Given the description of an element on the screen output the (x, y) to click on. 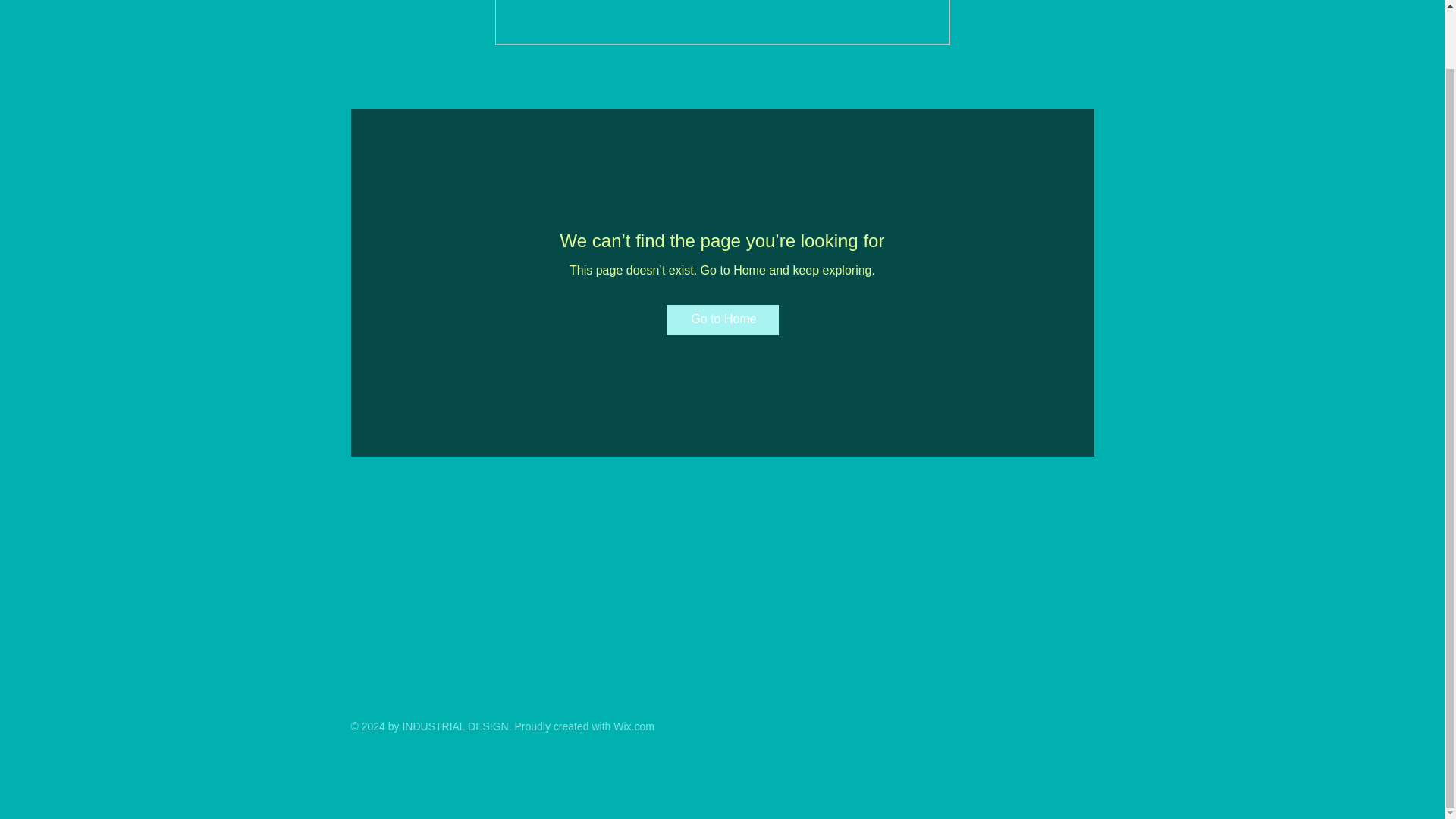
Go to Home (721, 319)
wartone pantone LJFERIA STUDIO UK-2.png (722, 22)
Wix.com (632, 726)
